Given the description of an element on the screen output the (x, y) to click on. 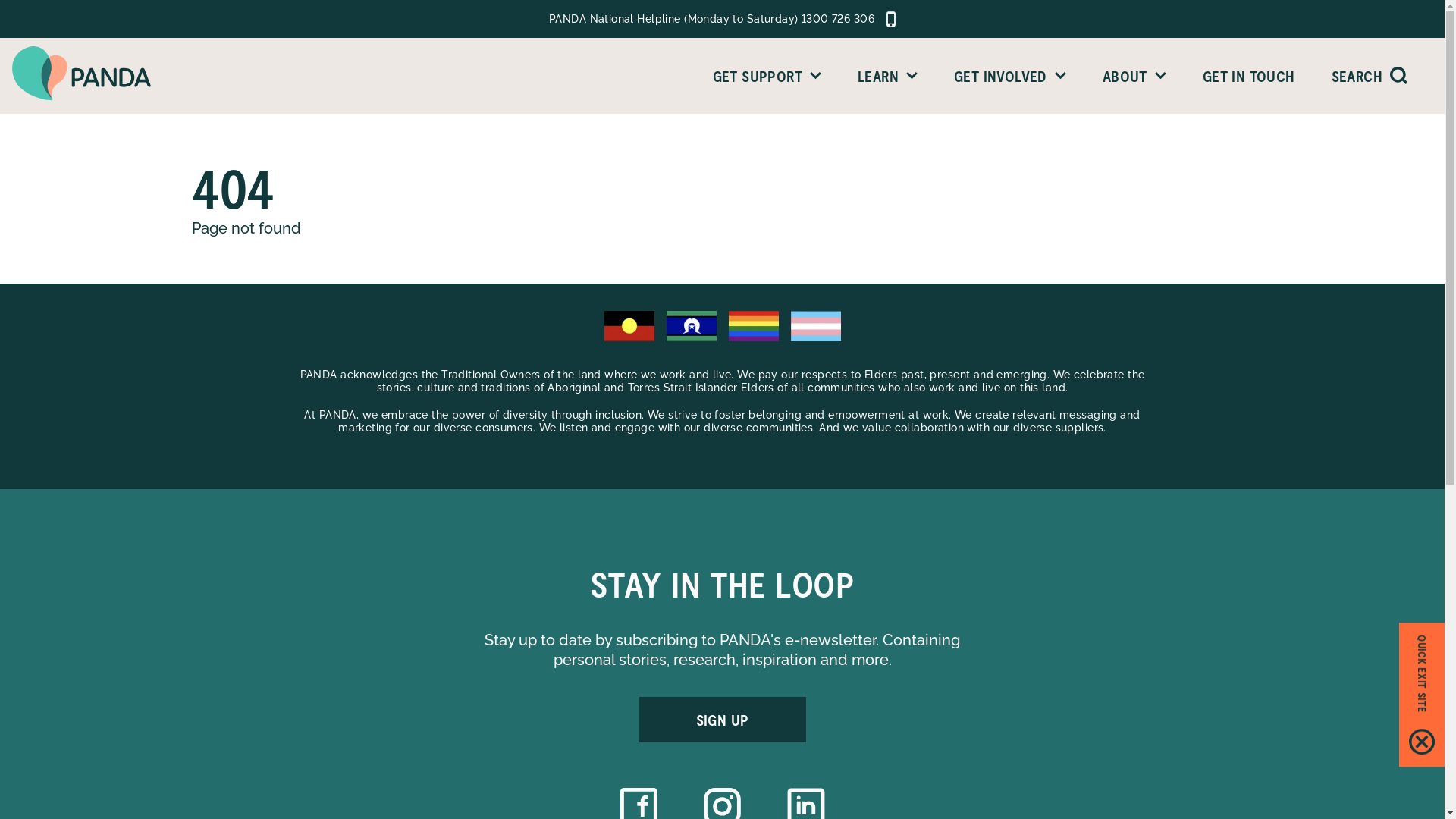
LEARN Element type: text (887, 75)
GET INVOLVED Element type: text (1009, 75)
SIGN UP Element type: text (721, 719)
SEARCH Element type: text (1360, 75)
1300 726 306 Element type: text (837, 18)
ABOUT Element type: text (1134, 75)
GET SUPPORT Element type: text (766, 75)
GET IN TOUCH Element type: text (1248, 75)
